Given the description of an element on the screen output the (x, y) to click on. 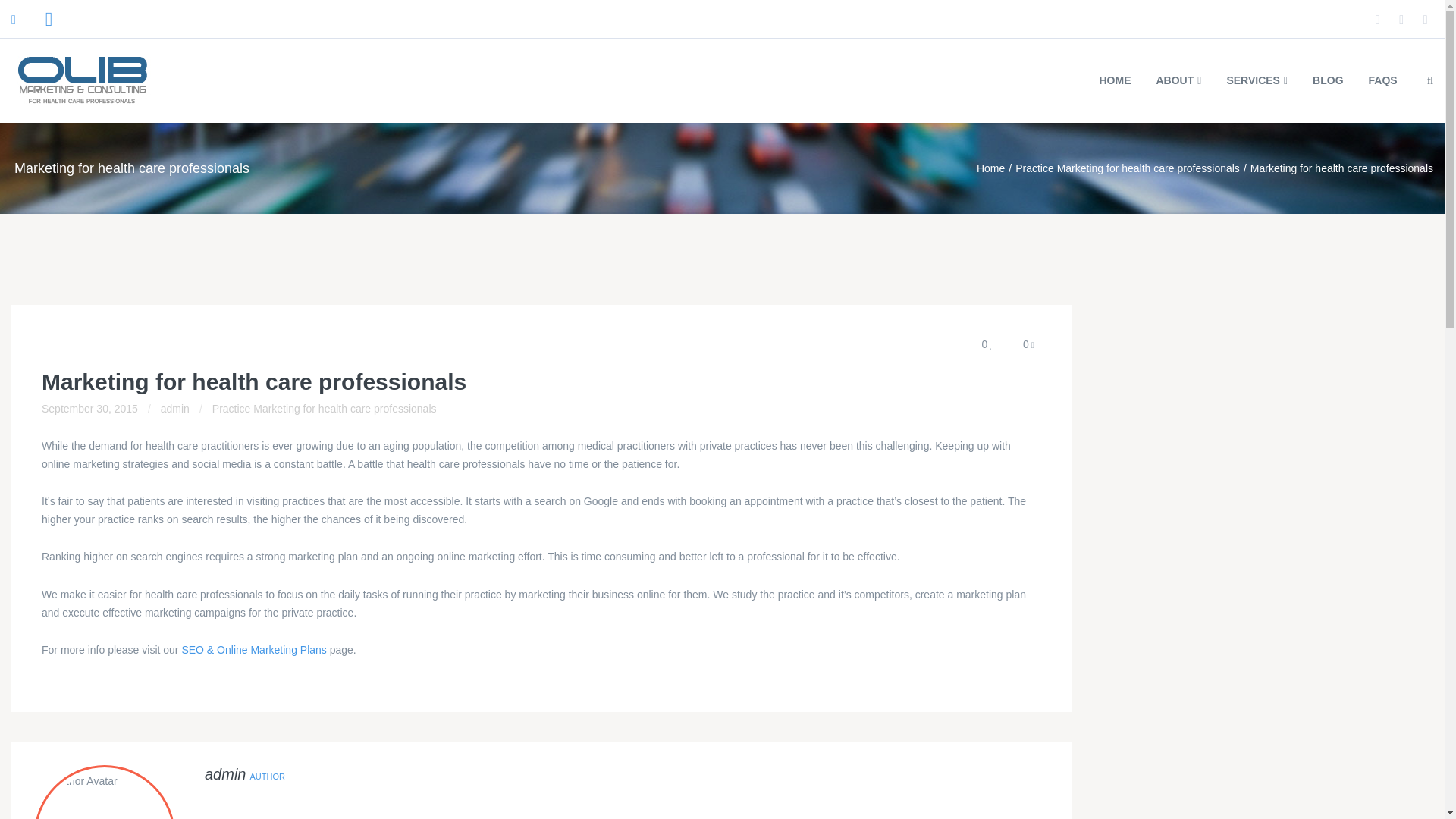
Logo (82, 79)
admin (174, 408)
Practice Marketing for health care professionals (1127, 168)
Home (990, 168)
admin (225, 773)
SERVICES (1256, 80)
Posts by admin (225, 773)
Practice Marketing for health care professionals (324, 408)
Posts by admin (174, 408)
Practice Marketing for health care professionals (1127, 168)
